Given the description of an element on the screen output the (x, y) to click on. 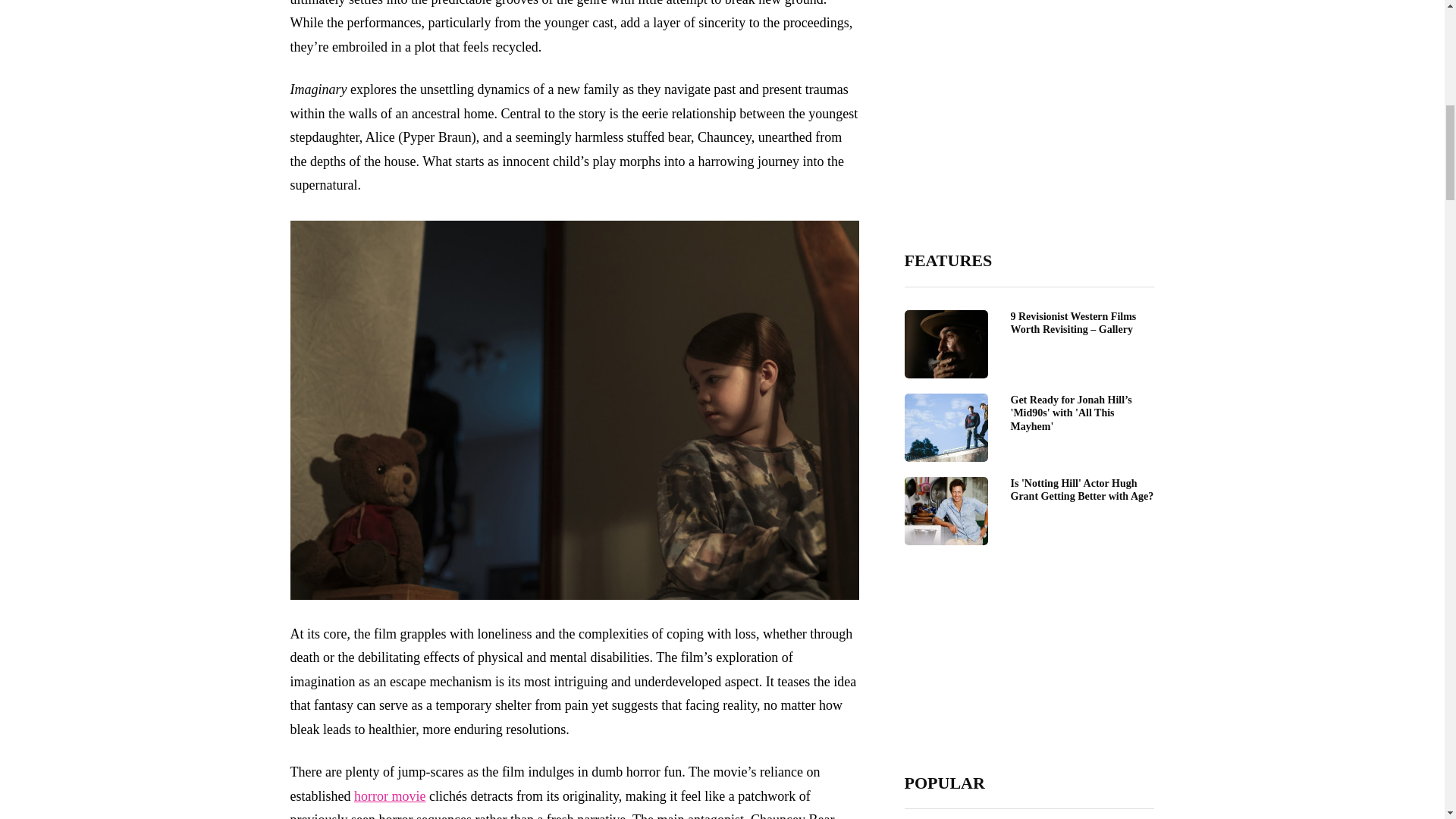
horror movie (389, 795)
